Given the description of an element on the screen output the (x, y) to click on. 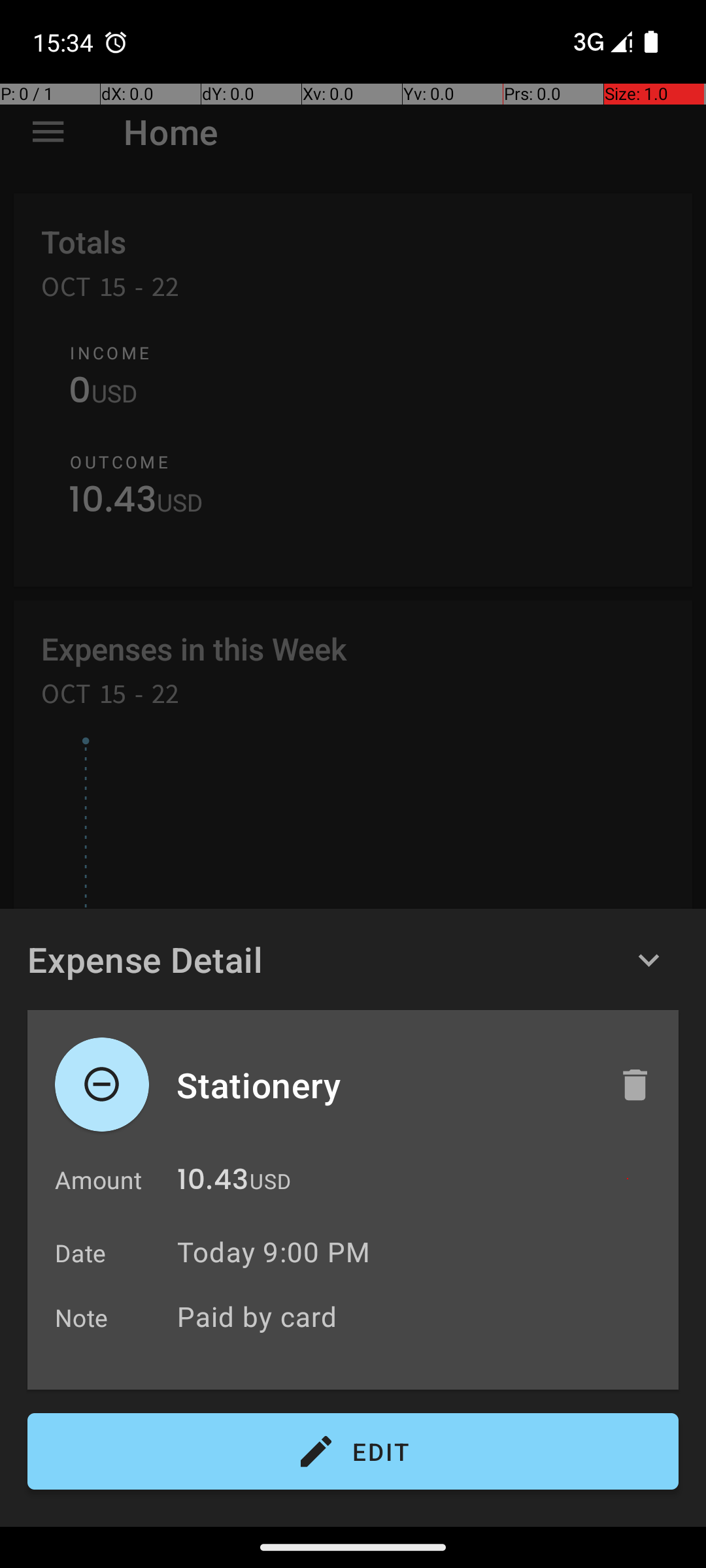
10.43 Element type: android.widget.TextView (212, 1182)
